Given the description of an element on the screen output the (x, y) to click on. 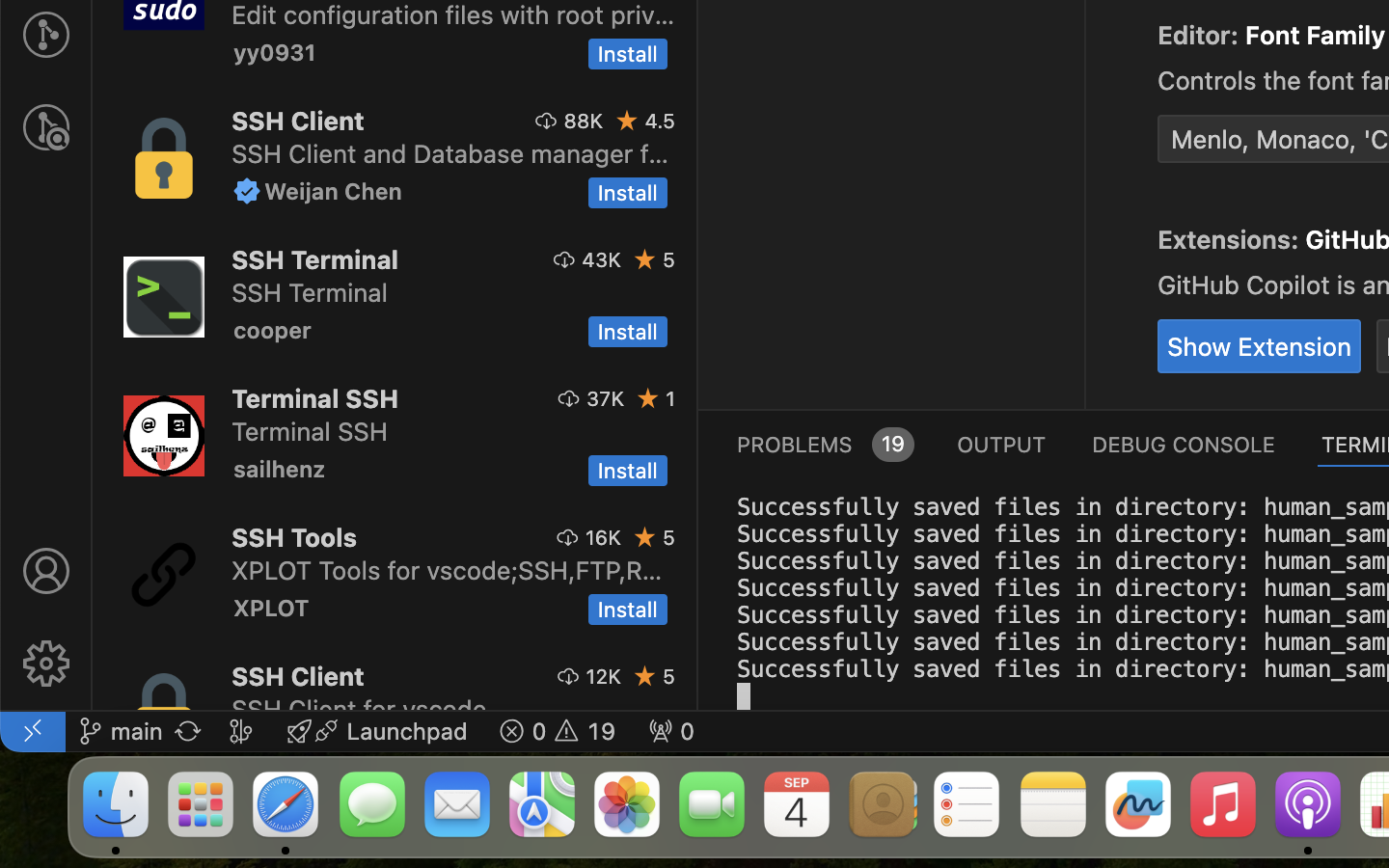
Extensions: Element type: AXStaticText (1231, 239)
sailhenz Element type: AXStaticText (279, 468)
0 DEBUG CONSOLE Element type: AXRadioButton (1183, 443)
SSH Client and Database manager for MySQL/MariaDB, PostgreSQL, SQLite, Redis and ElasticSearch. Element type: AXStaticText (450, 152)
12K Element type: AXStaticText (603, 675)
